Given the description of an element on the screen output the (x, y) to click on. 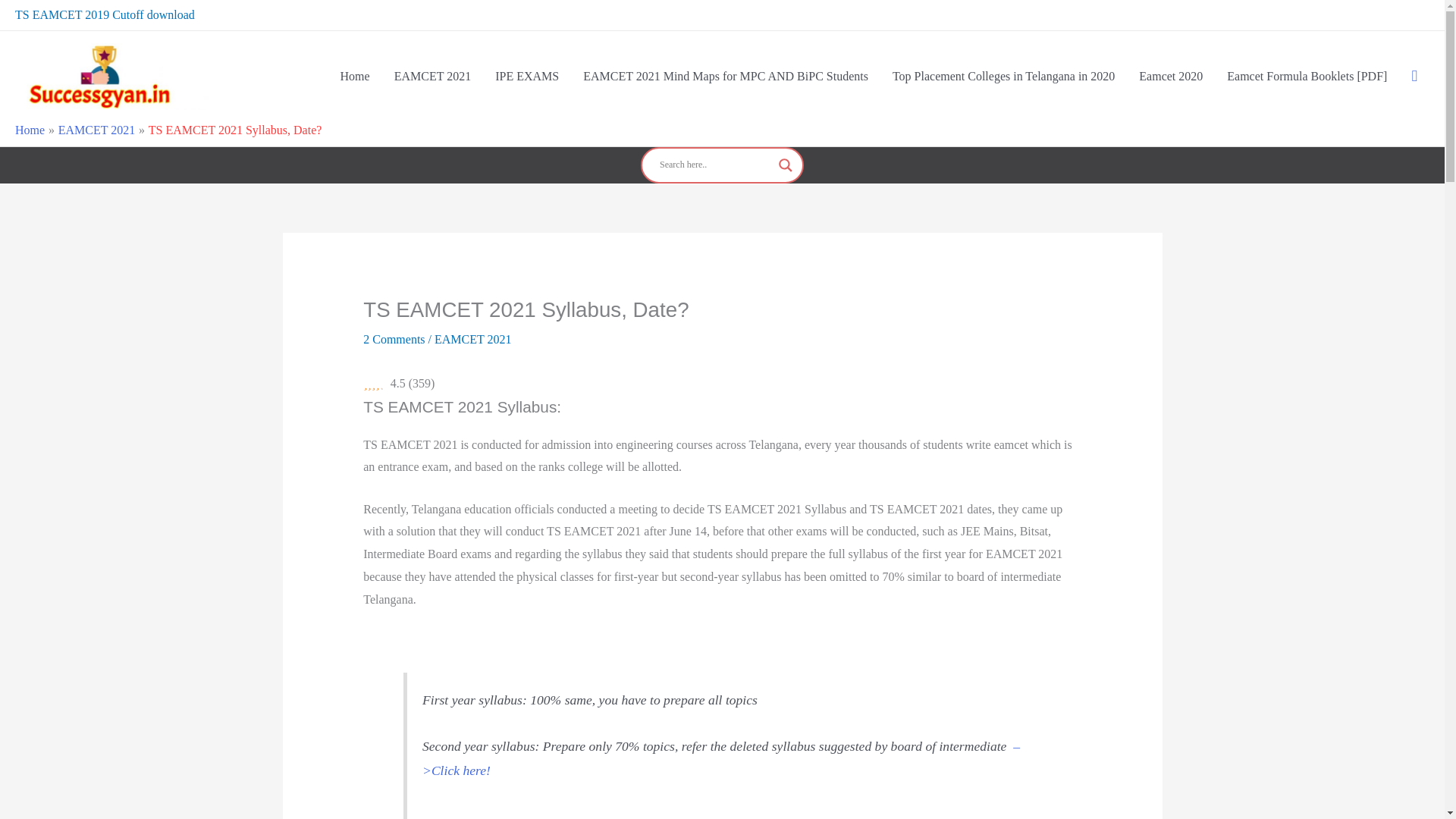
EAMCET 2021 (472, 338)
Top Placement Colleges in Telangana in 2020 (1003, 76)
Home (29, 129)
Eamcet 2020 (1170, 76)
EAMCET 2021 Mind Maps for MPC AND BiPC Students (725, 76)
2 Comments (393, 338)
IPE EXAMS (526, 76)
EAMCET 2021 (96, 129)
TS EAMCET 2019 Cutoff download (104, 14)
EAMCET 2021 (432, 76)
